Given the description of an element on the screen output the (x, y) to click on. 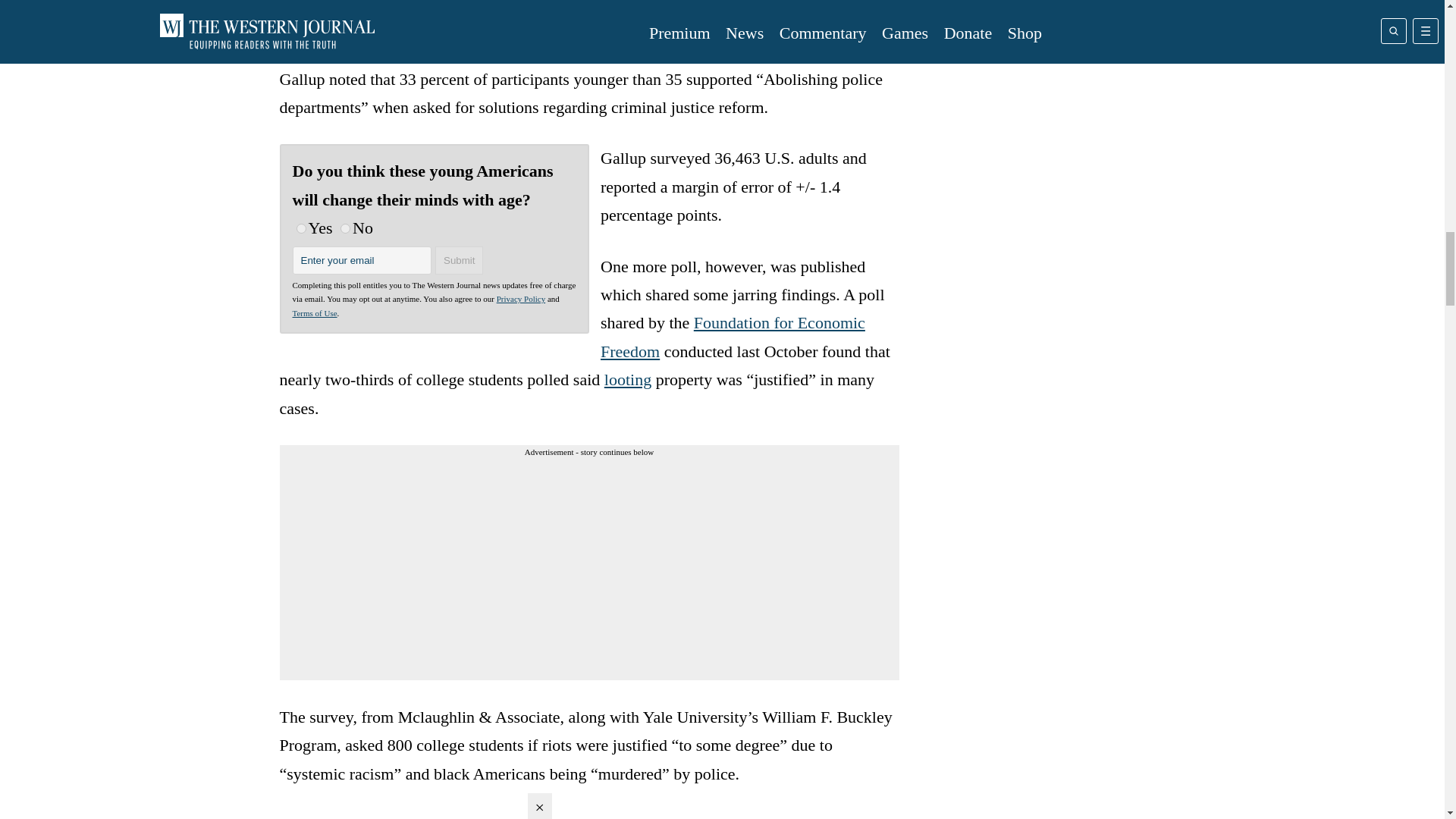
yes (300, 228)
no (345, 228)
Submit (459, 260)
